Given the description of an element on the screen output the (x, y) to click on. 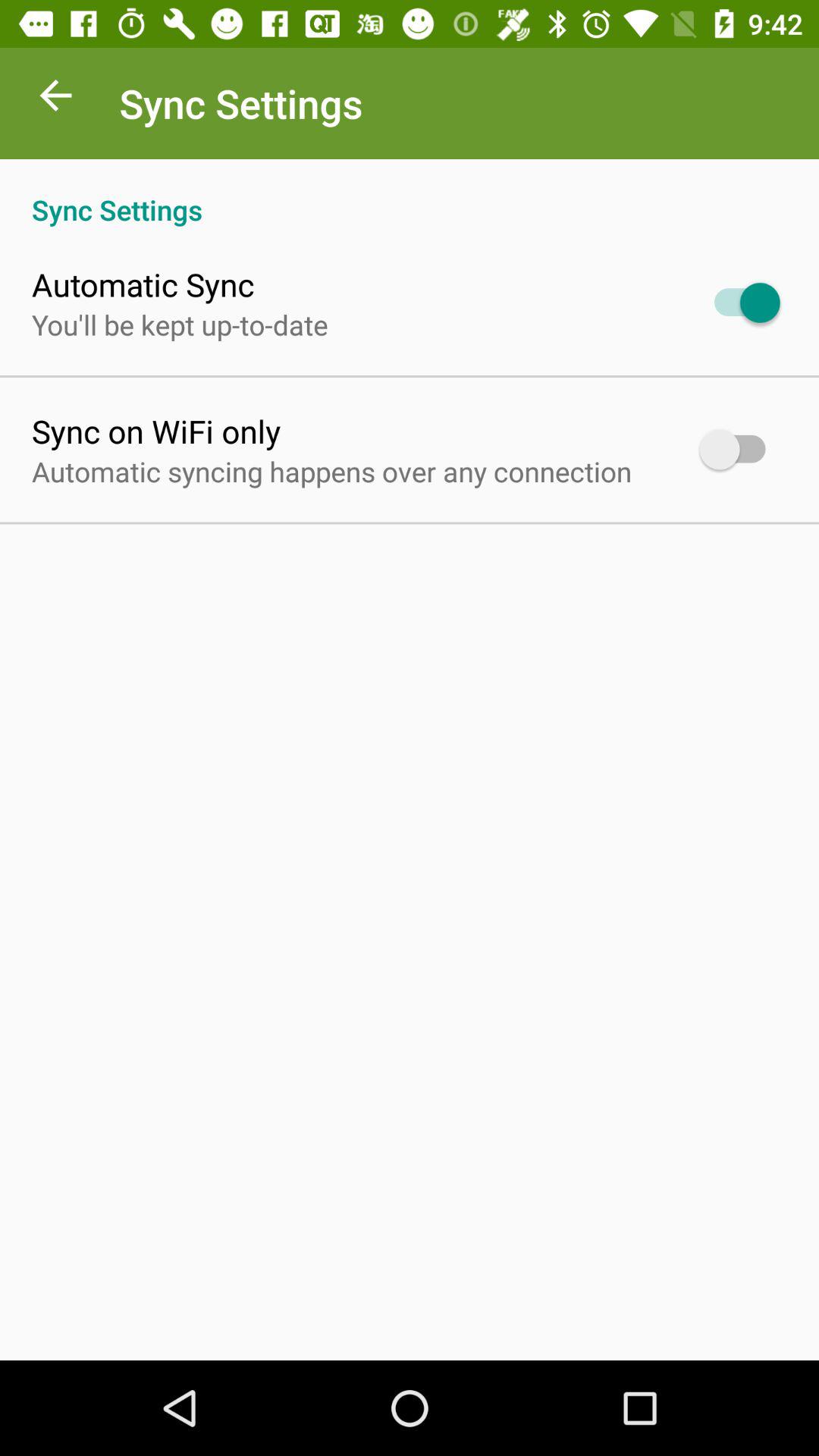
select item above the sync settings (55, 99)
